Given the description of an element on the screen output the (x, y) to click on. 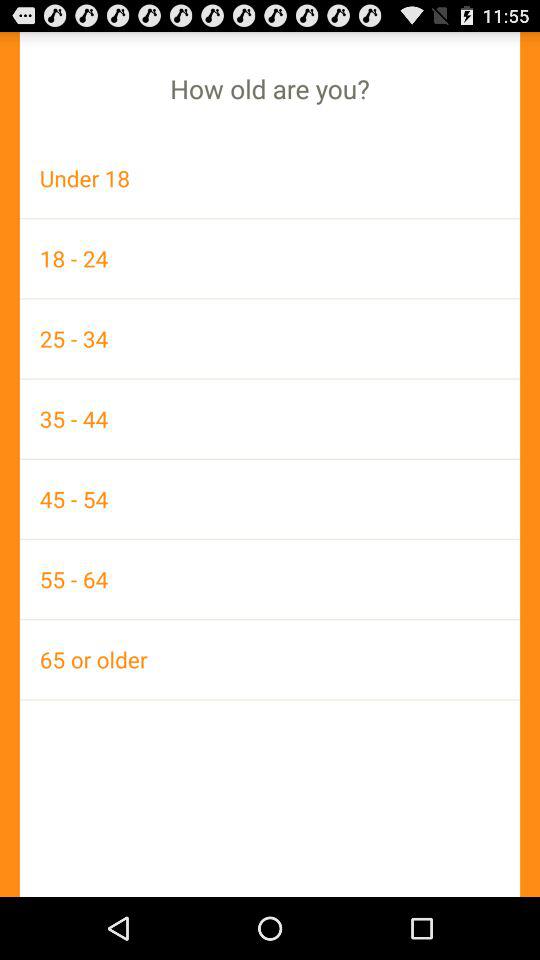
flip to 45 - 54 (269, 498)
